Given the description of an element on the screen output the (x, y) to click on. 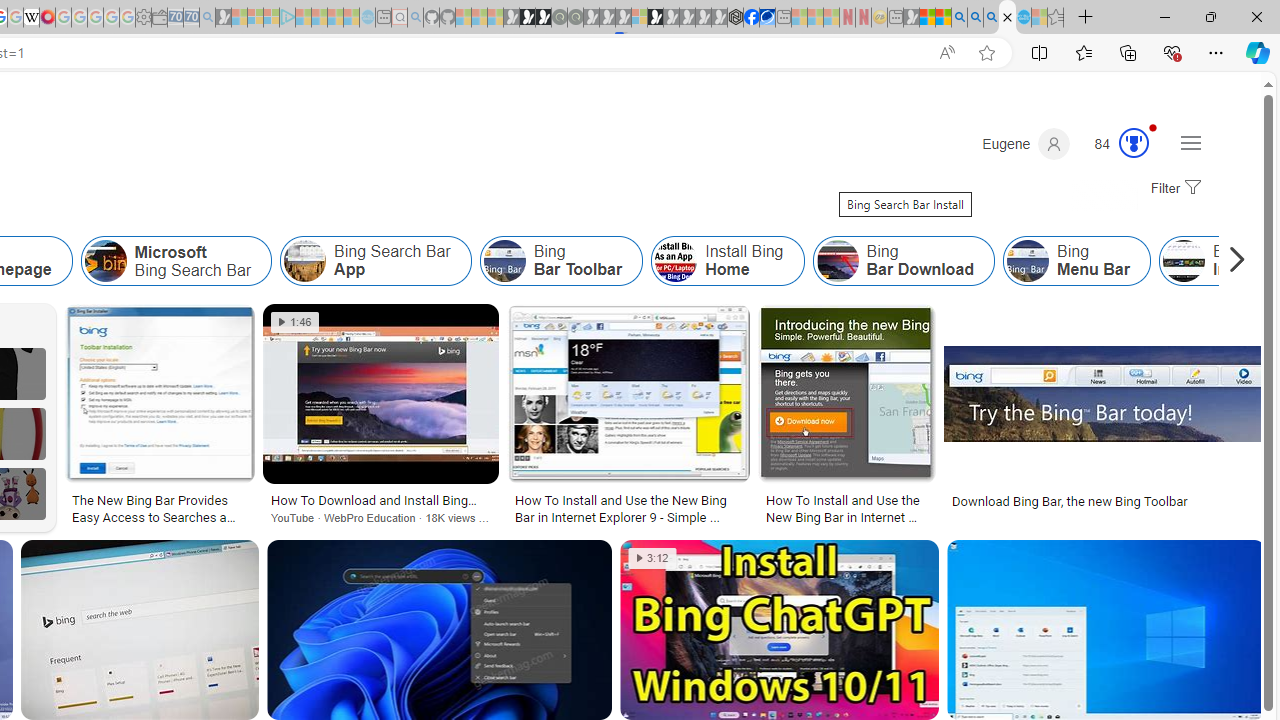
Bing Bar Toolbar (504, 260)
Download Bing Bar, the new Bing Toolbar (1069, 500)
Class: item col (1076, 260)
MSN - Sleeping (911, 17)
Bing Search Bar App (305, 260)
Bing Bar Toolbar (561, 260)
